Given the description of an element on the screen output the (x, y) to click on. 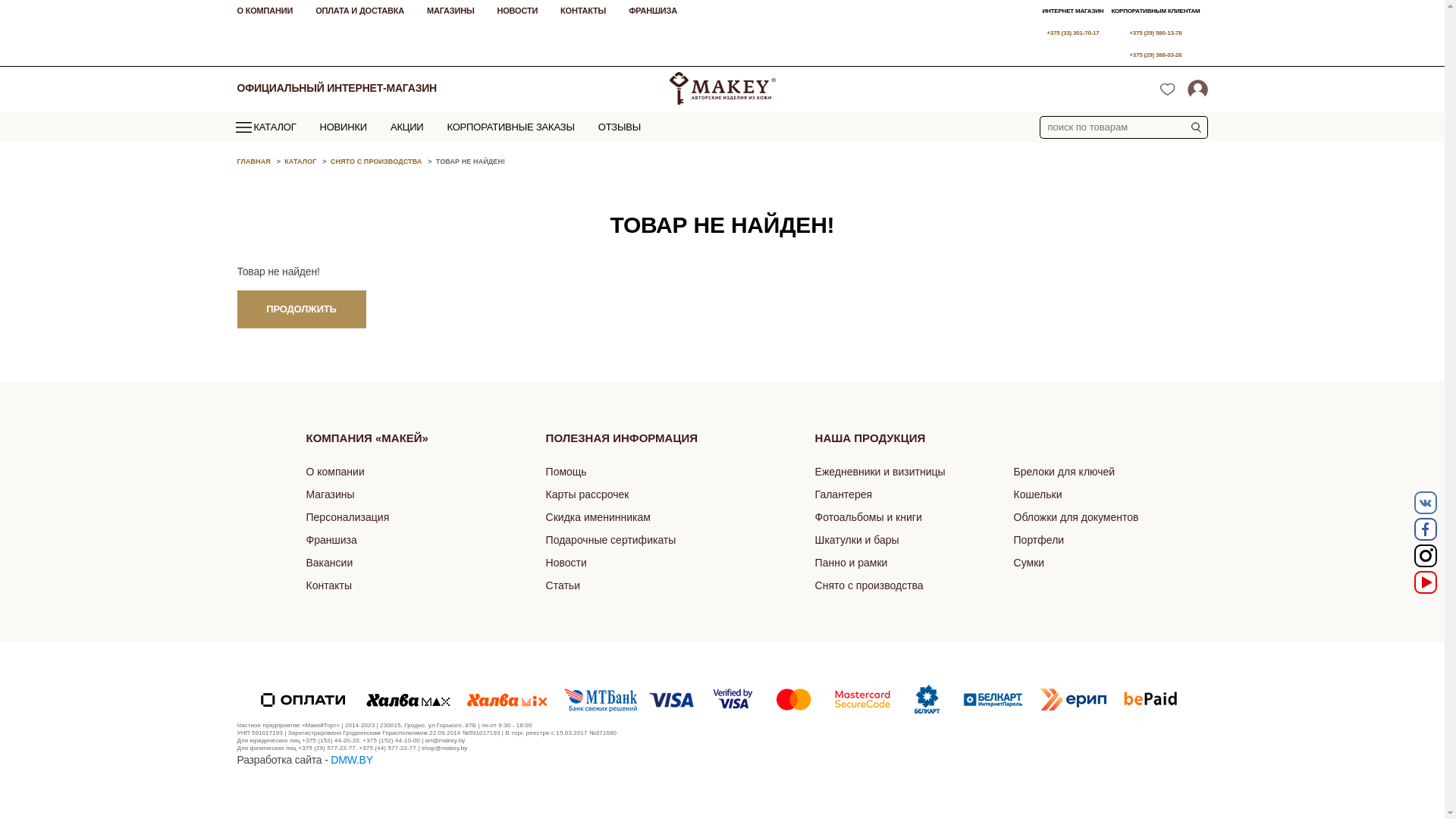
+375 (33) 301-70-17 Element type: text (1072, 32)
+375 (29) 580-13-78 Element type: text (1155, 32)
+375 (29) 388-03-26 Element type: text (1155, 54)
DMW.BY Element type: text (351, 759)
